Given the description of an element on the screen output the (x, y) to click on. 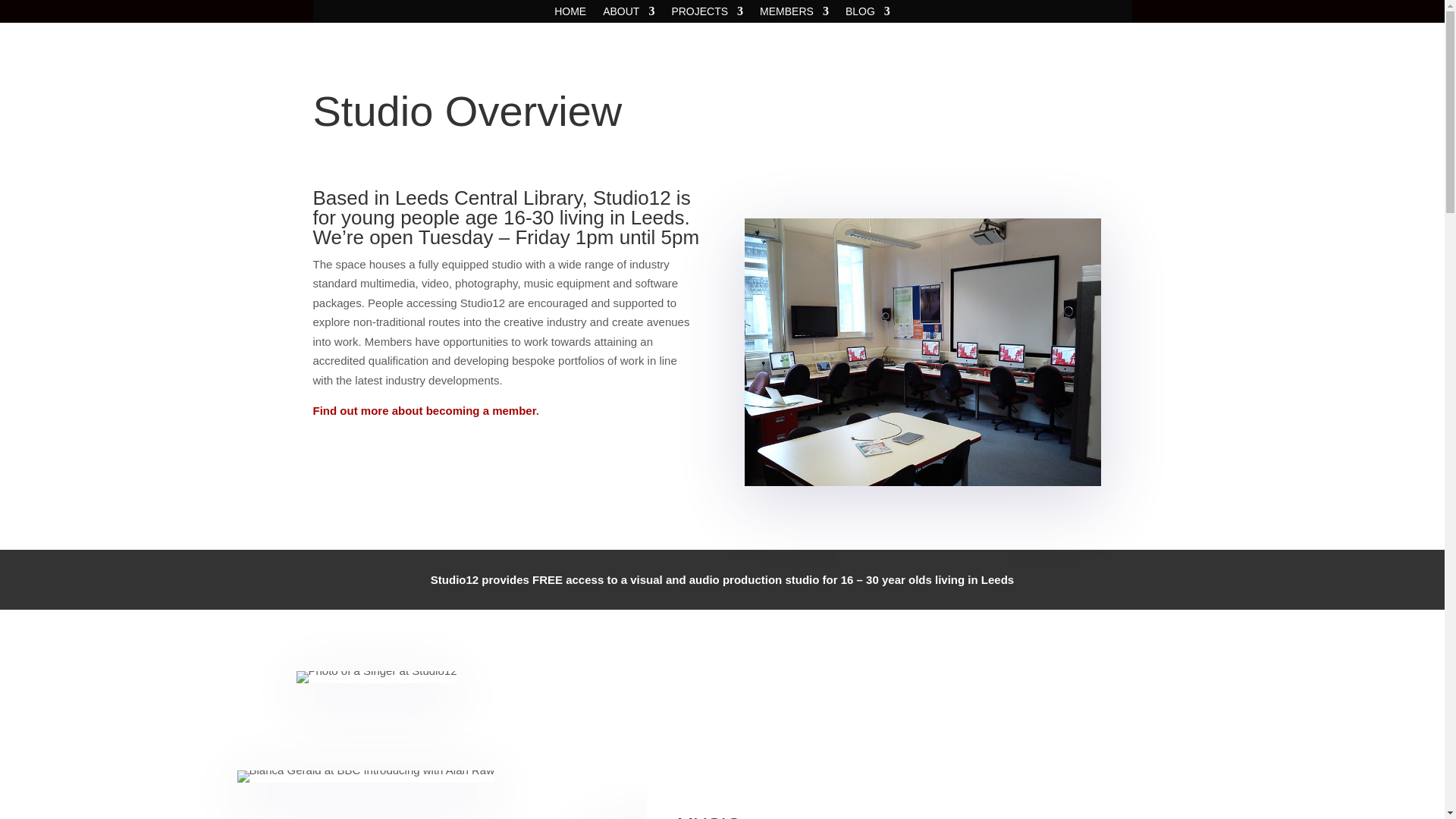
BBC Introducing (365, 776)
MEMBERS (794, 13)
Find out more about becoming a member (424, 410)
ABOUT (627, 13)
BLOG (867, 13)
PROJECTS (706, 13)
Inside Studio12 (922, 352)
HOME (570, 13)
Singer at Studio12 (376, 676)
